Given the description of an element on the screen output the (x, y) to click on. 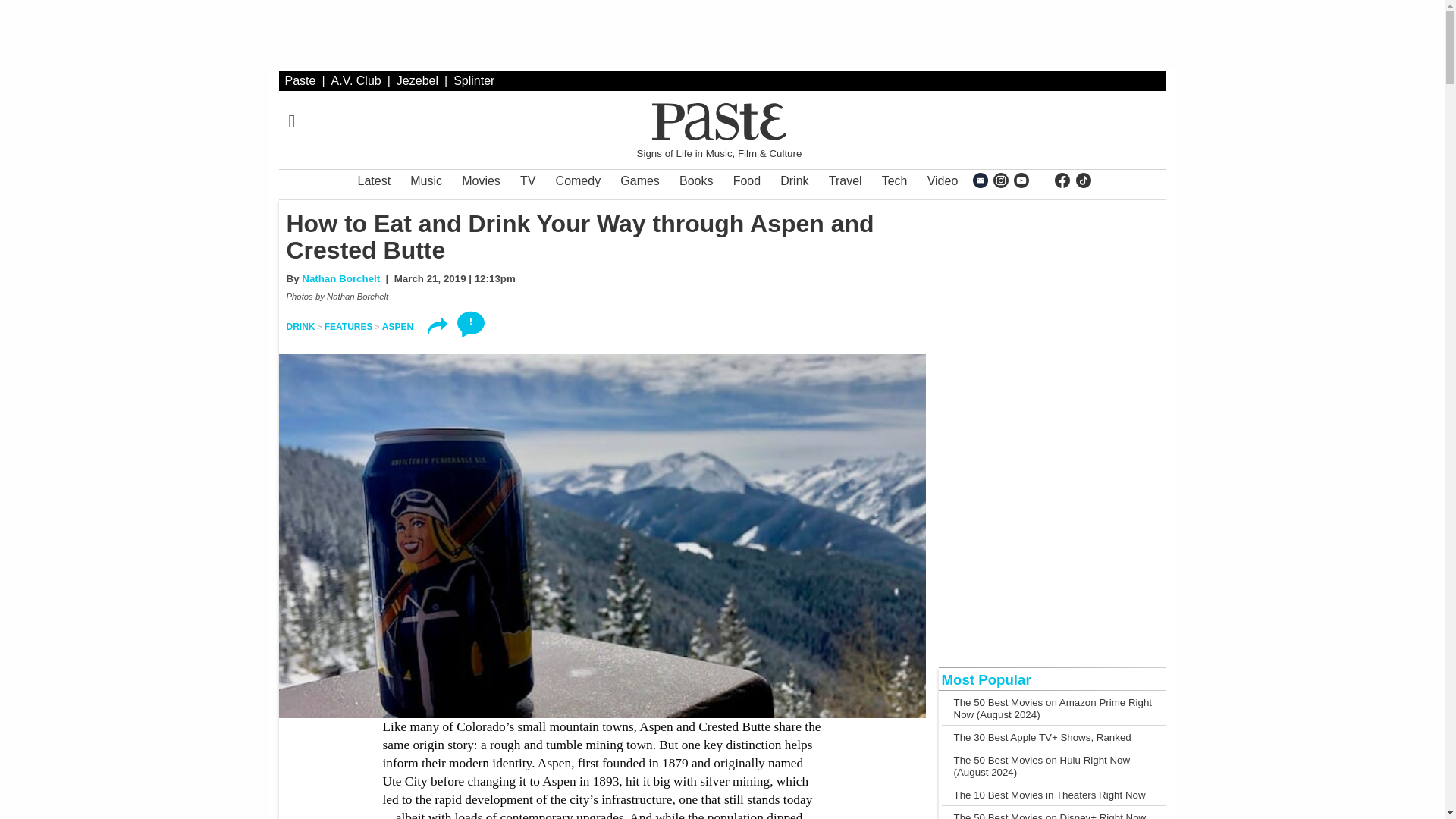
Splinter (473, 80)
Food (746, 180)
Books (695, 180)
Music (426, 180)
Paste (300, 80)
Jezebel (417, 80)
Latest (374, 180)
A.V. Club (356, 80)
Drink (793, 180)
Travel (844, 180)
